Given the description of an element on the screen output the (x, y) to click on. 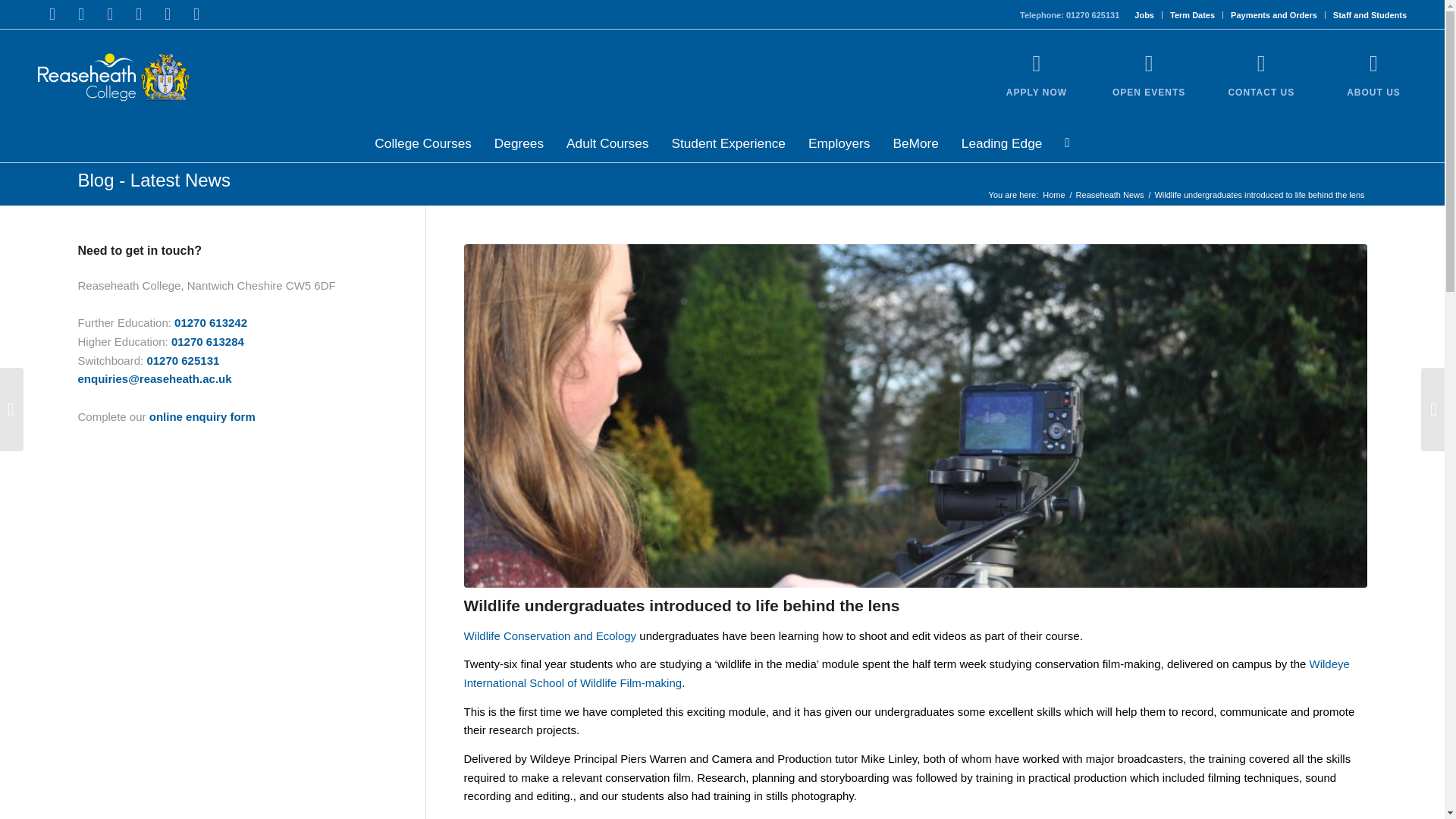
Facebook (51, 14)
Youtube (137, 14)
Apply Now (1036, 63)
Student Experience (727, 143)
Staff and Students (1369, 14)
Leading Edge (1001, 143)
BeMore (914, 143)
Instagram (109, 14)
LinkedIn (167, 14)
Open Events (1148, 91)
